Given the description of an element on the screen output the (x, y) to click on. 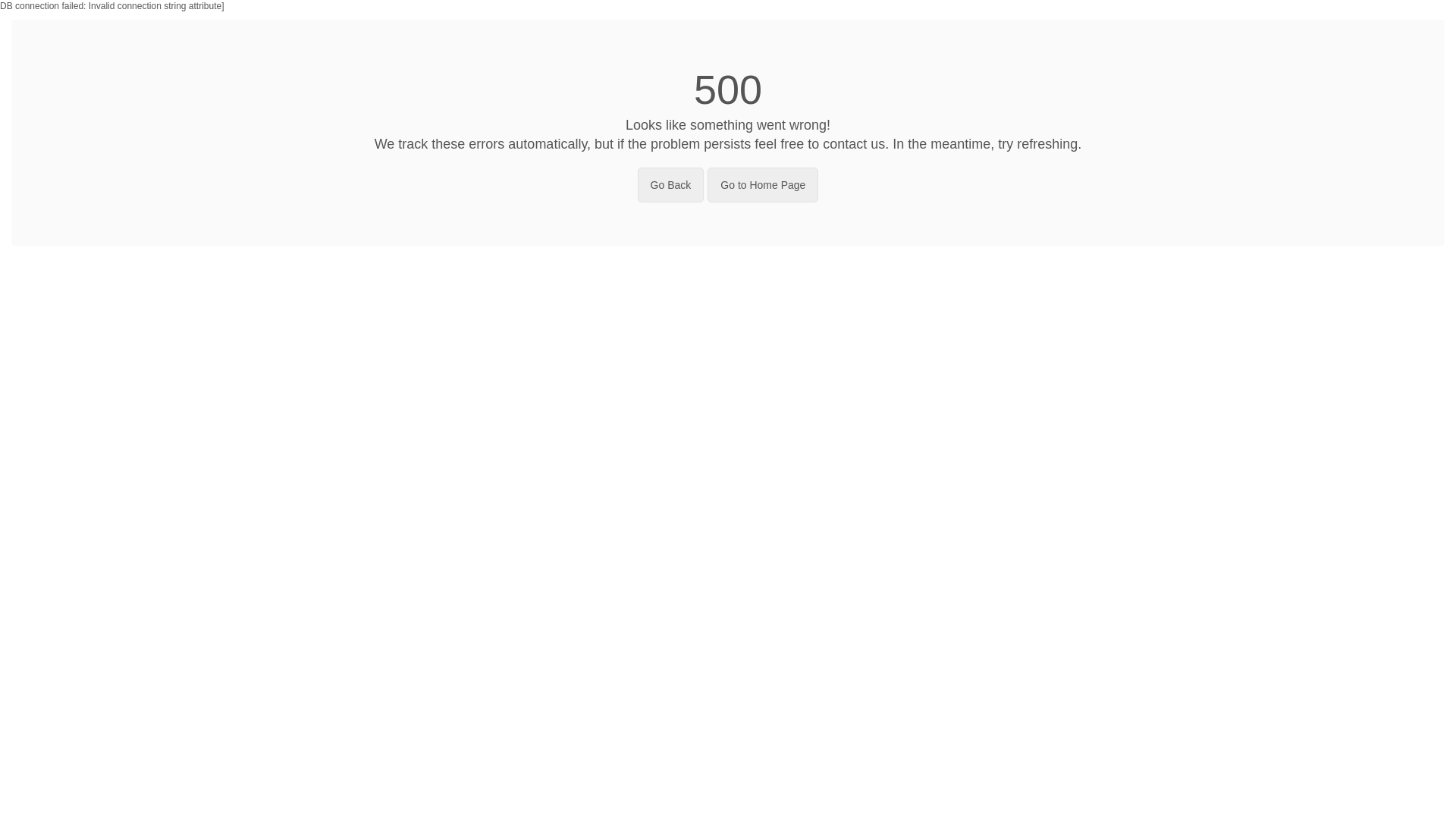
Go Back Element type: text (670, 185)
Go to Home Page Element type: text (762, 185)
